Given the description of an element on the screen output the (x, y) to click on. 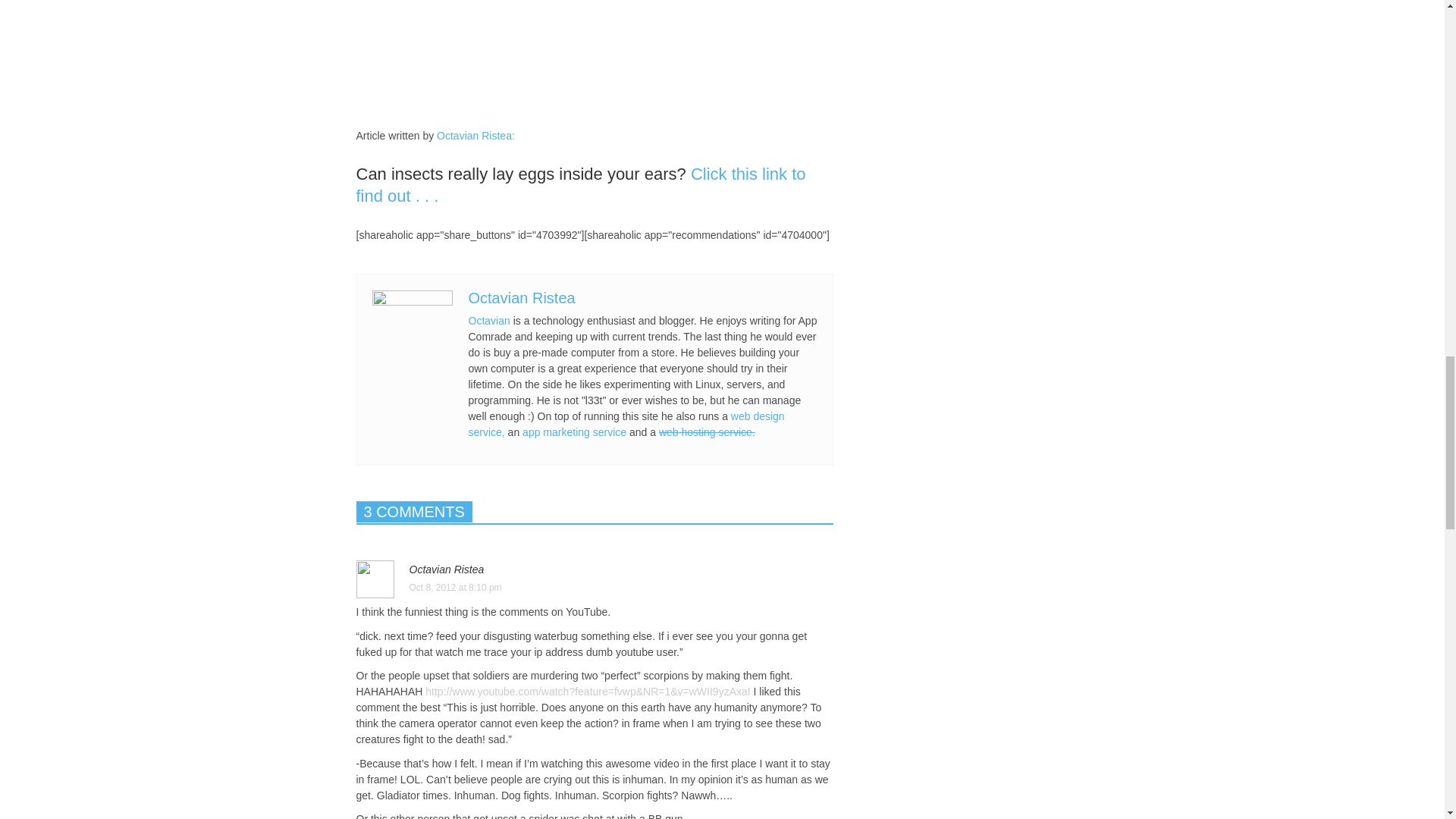
Who is Octavian? (475, 135)
Click this link to find out . . . (581, 184)
Octavian Ristea (521, 297)
Oct 8, 2012 at 8:10 pm (595, 591)
web hosting service. (707, 431)
web design service, (626, 424)
Octavian Ristea: (475, 135)
Octavian Ristea (446, 569)
Octavian (489, 320)
app marketing service (574, 431)
